Given the description of an element on the screen output the (x, y) to click on. 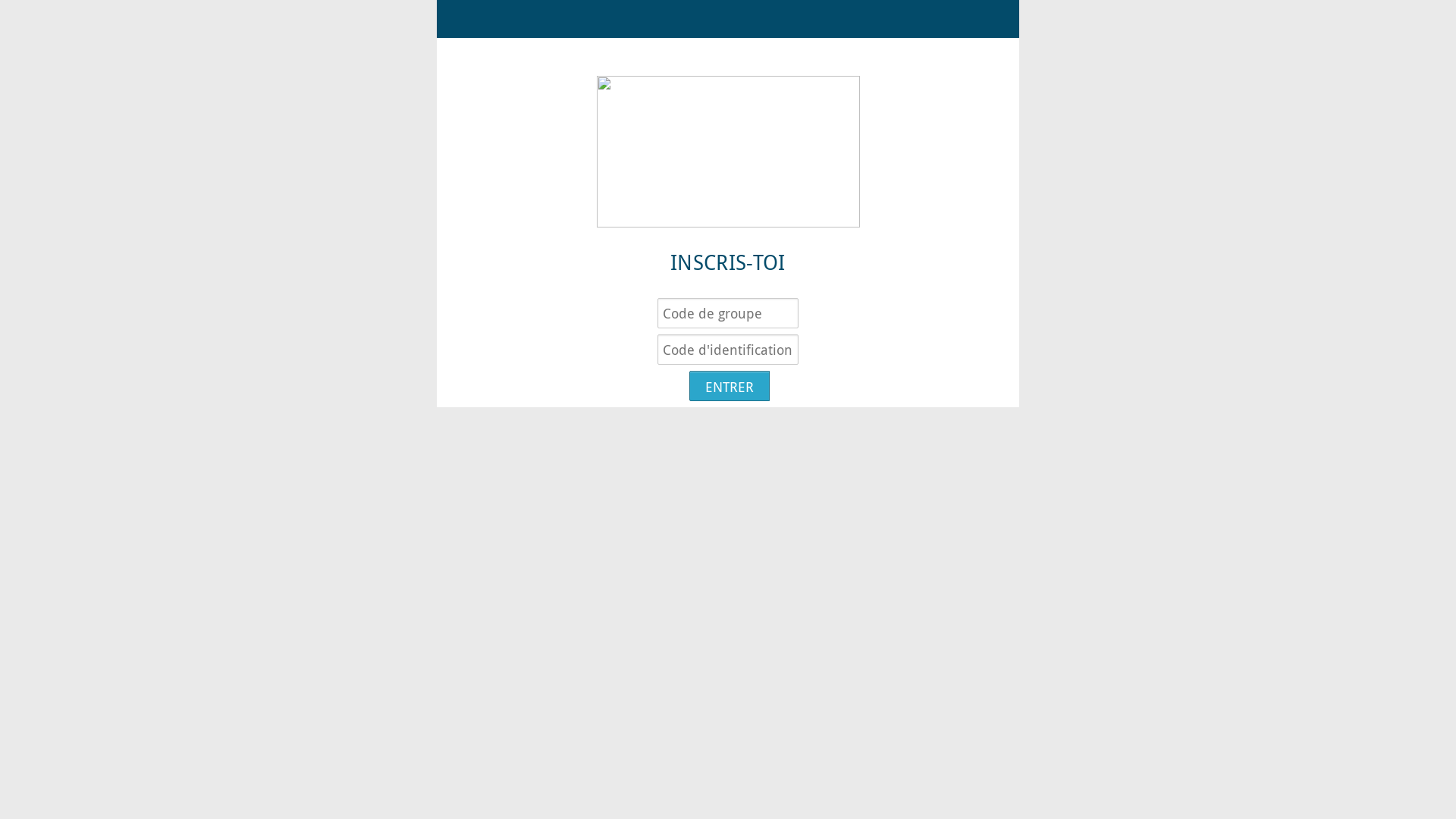
ENTRER Element type: text (729, 385)
